Given the description of an element on the screen output the (x, y) to click on. 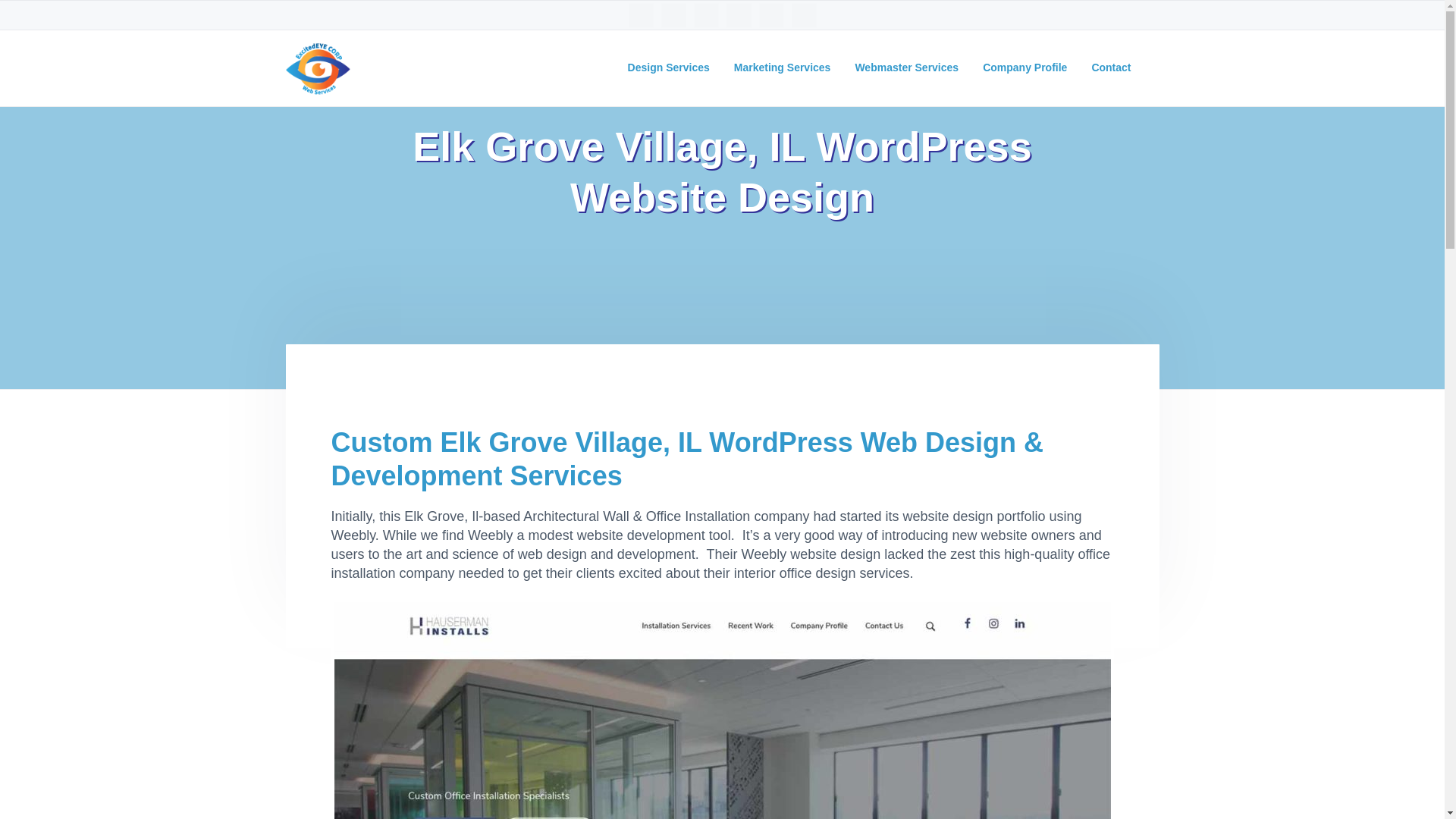
Design Services (668, 68)
Search (60, 18)
Contact (1110, 68)
Company Profile (1024, 68)
Marketing Services (782, 68)
Webmaster Services (906, 68)
